Given the description of an element on the screen output the (x, y) to click on. 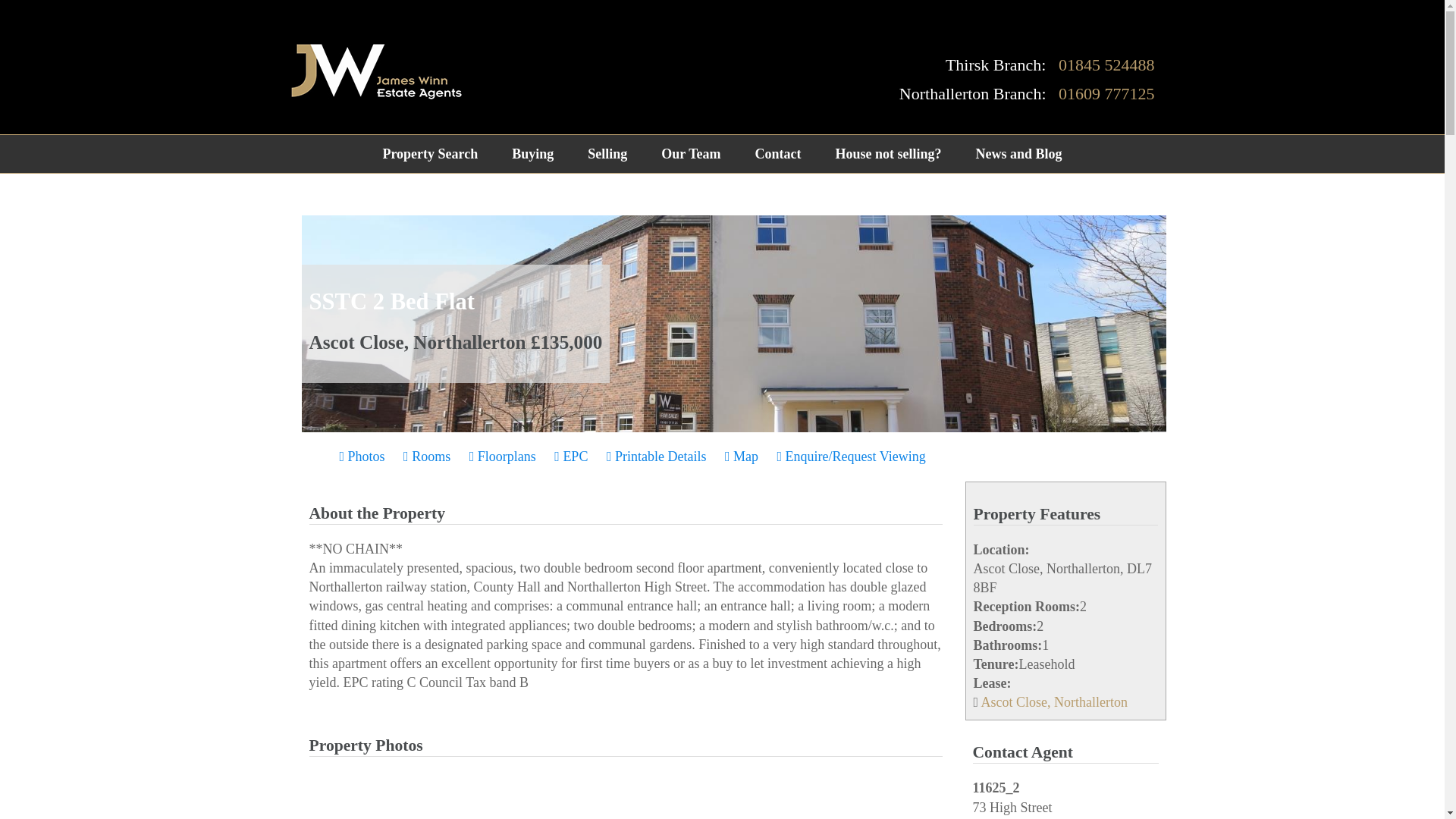
Printable Details (656, 456)
Selling (607, 153)
01609 777125 (1106, 93)
Photos (362, 456)
Floorplans (501, 456)
News and Blog (1018, 153)
01845 524488 (1106, 64)
House not selling? (888, 153)
EPCs (571, 456)
Property Search (430, 153)
